Given the description of an element on the screen output the (x, y) to click on. 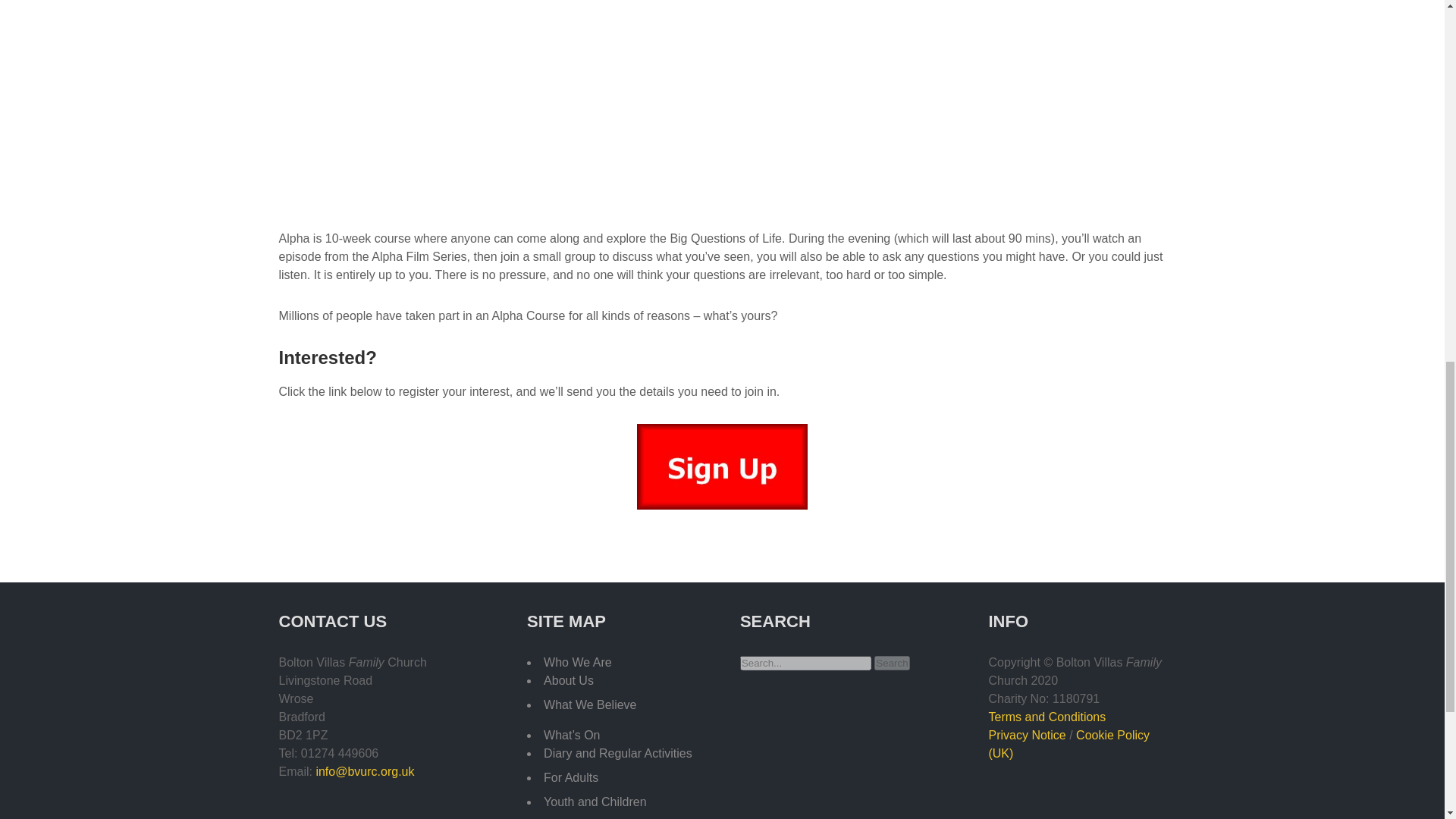
Diary and Regular Activities (618, 753)
Privacy Notice (1026, 735)
Search (891, 663)
Search (891, 663)
For Adults (570, 777)
Youth and Children (594, 801)
What We Believe (589, 704)
Who We Are (577, 662)
Search (891, 663)
Terms and Conditions (1046, 716)
